Given the description of an element on the screen output the (x, y) to click on. 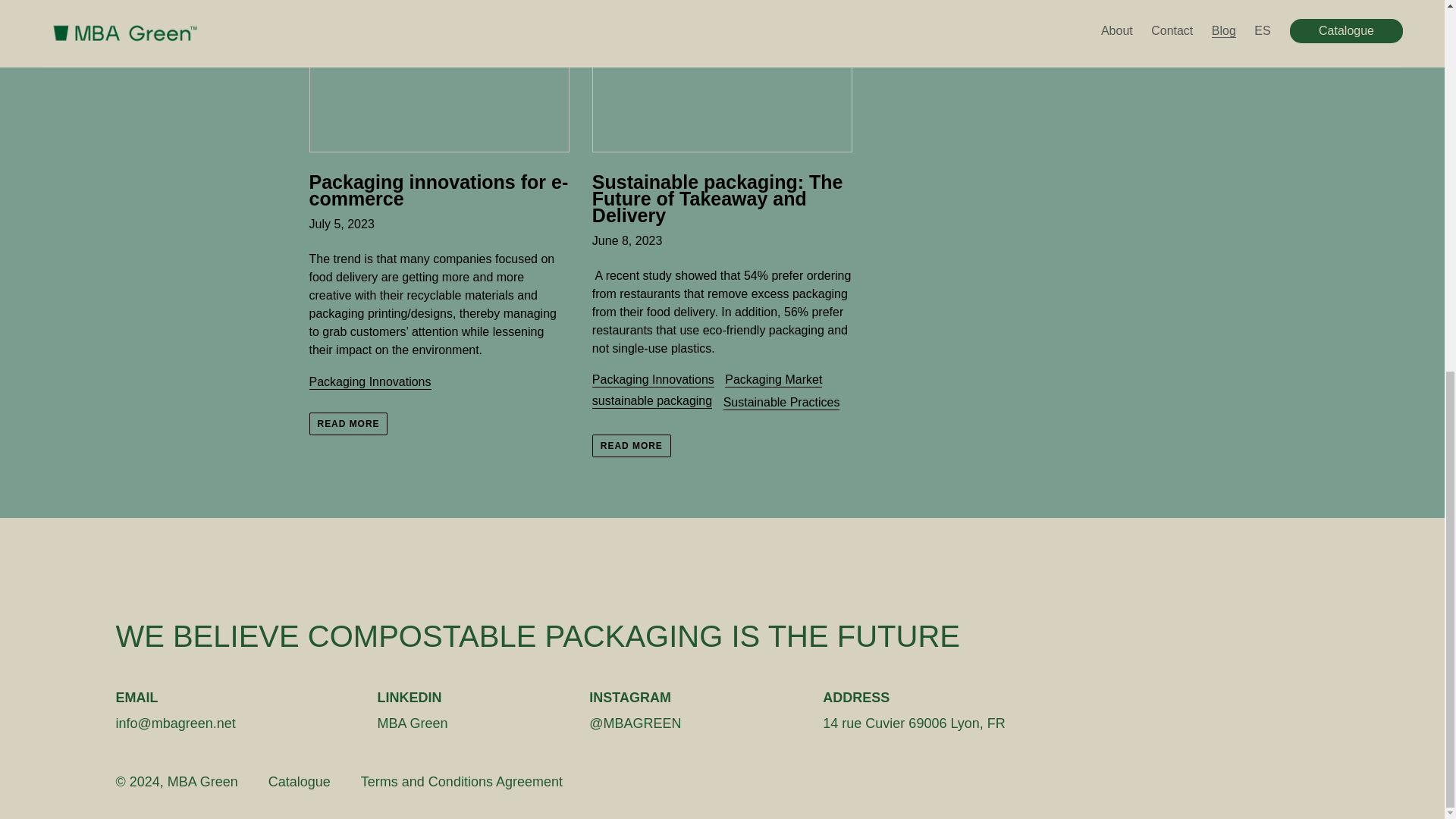
Packaging Innovations (369, 382)
Terms and Conditions Agreement (461, 782)
Packaging Market (773, 380)
Packaging Innovations (653, 380)
MBA Green (202, 781)
Sustainable packaging: The Future of Takeaway and Delivery (721, 111)
Sustainable Practices (781, 402)
Catalogue (298, 782)
MBA Green (412, 723)
sustainable packaging (651, 400)
READ MORE (631, 445)
Packaging innovations for e-commerce (438, 103)
READ MORE (348, 423)
